Given the description of an element on the screen output the (x, y) to click on. 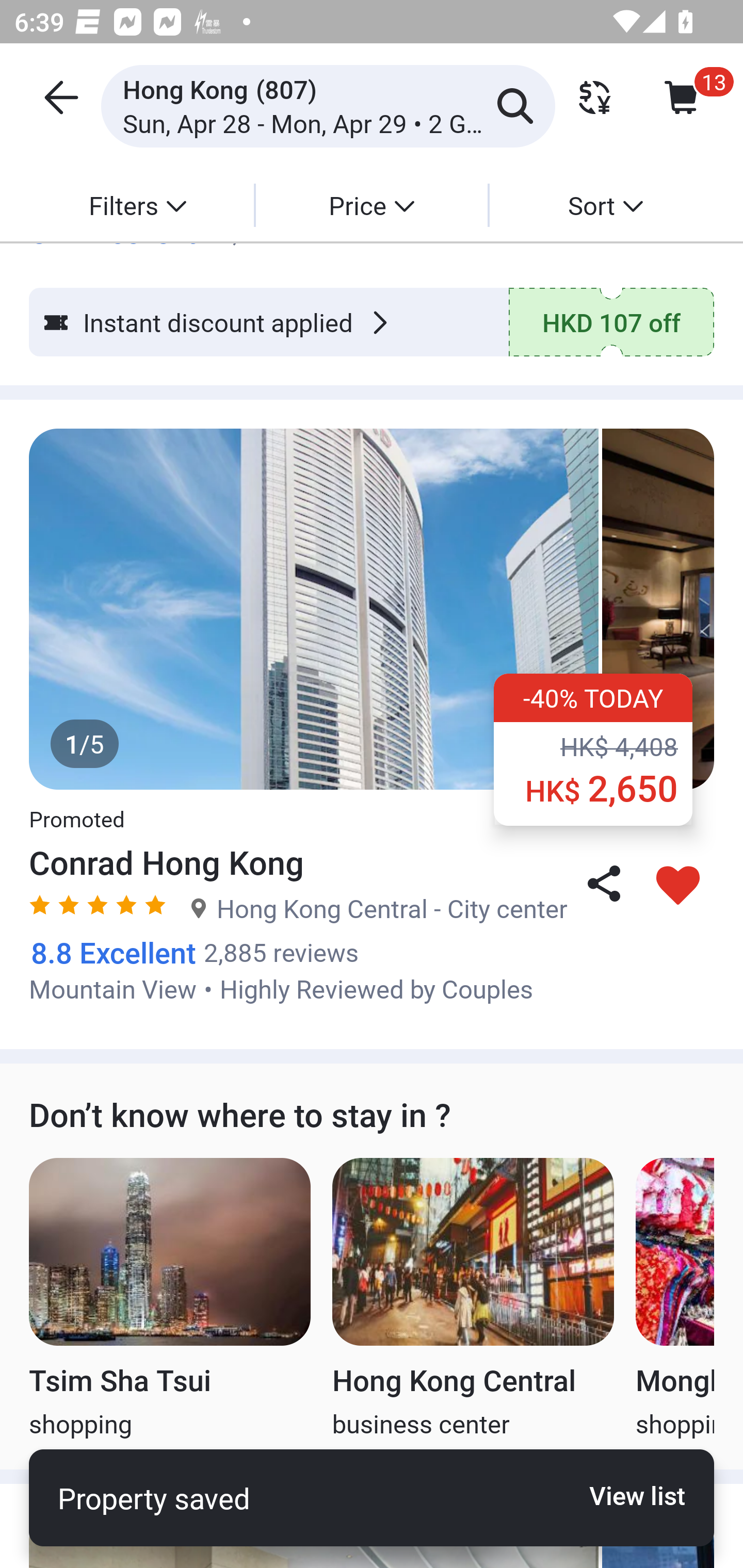
Filters (137, 205)
Price (371, 205)
Sort (605, 205)
Instant discount applied HKD 107 off (371, 322)
1/5 (371, 609)
-40% TODAY ‪HK$ 4,408 ‪HK$ 2,650 (593, 750)
Promoted (76, 808)
Tsim Sha Tsui shopping (169, 1298)
Hong Kong Central business center (472, 1298)
View list (626, 1494)
